Given the description of an element on the screen output the (x, y) to click on. 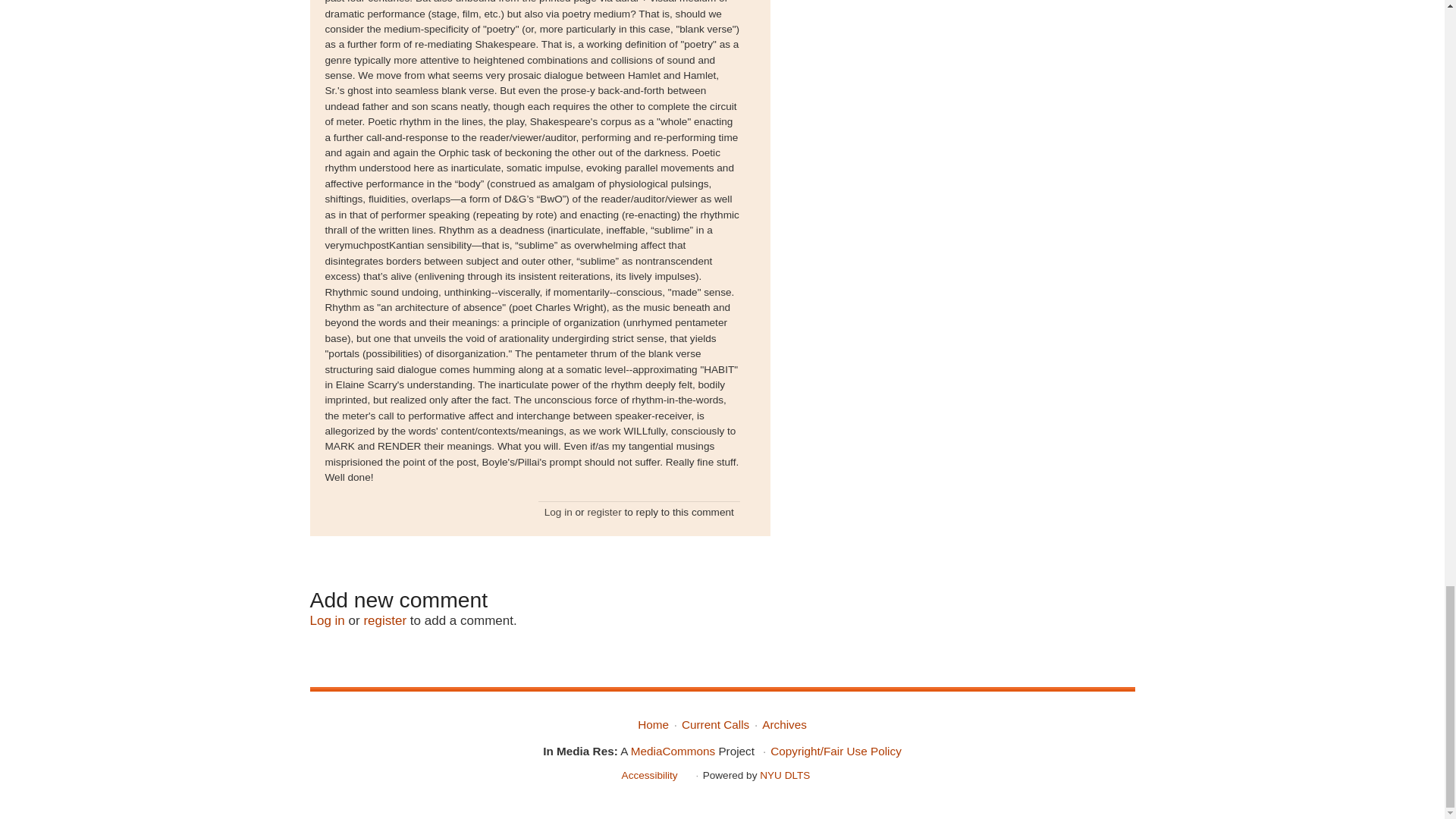
Log in (558, 511)
register (603, 511)
register (384, 620)
Log in (325, 620)
